Given the description of an element on the screen output the (x, y) to click on. 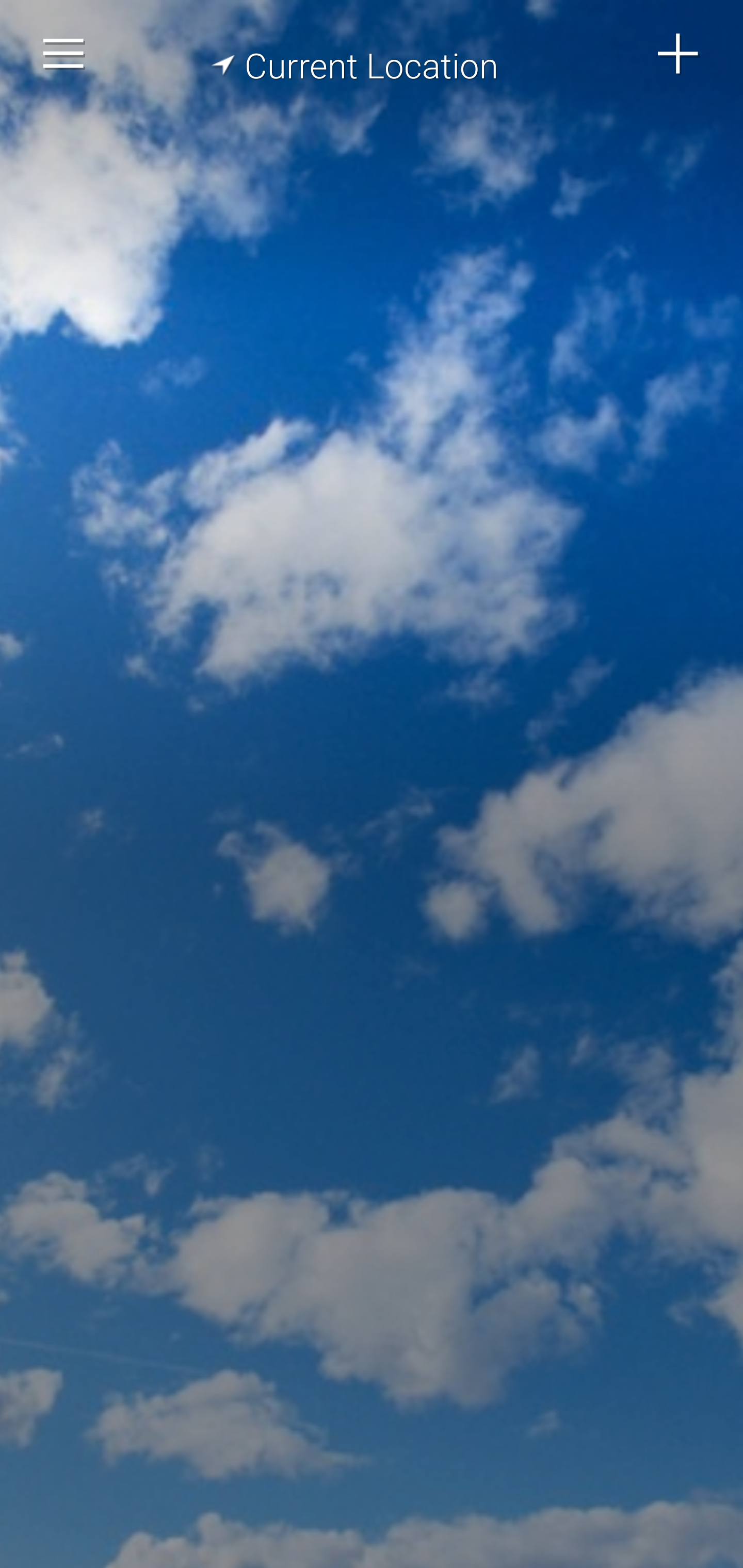
Sidebar (64, 54)
Add City (678, 53)
